Given the description of an element on the screen output the (x, y) to click on. 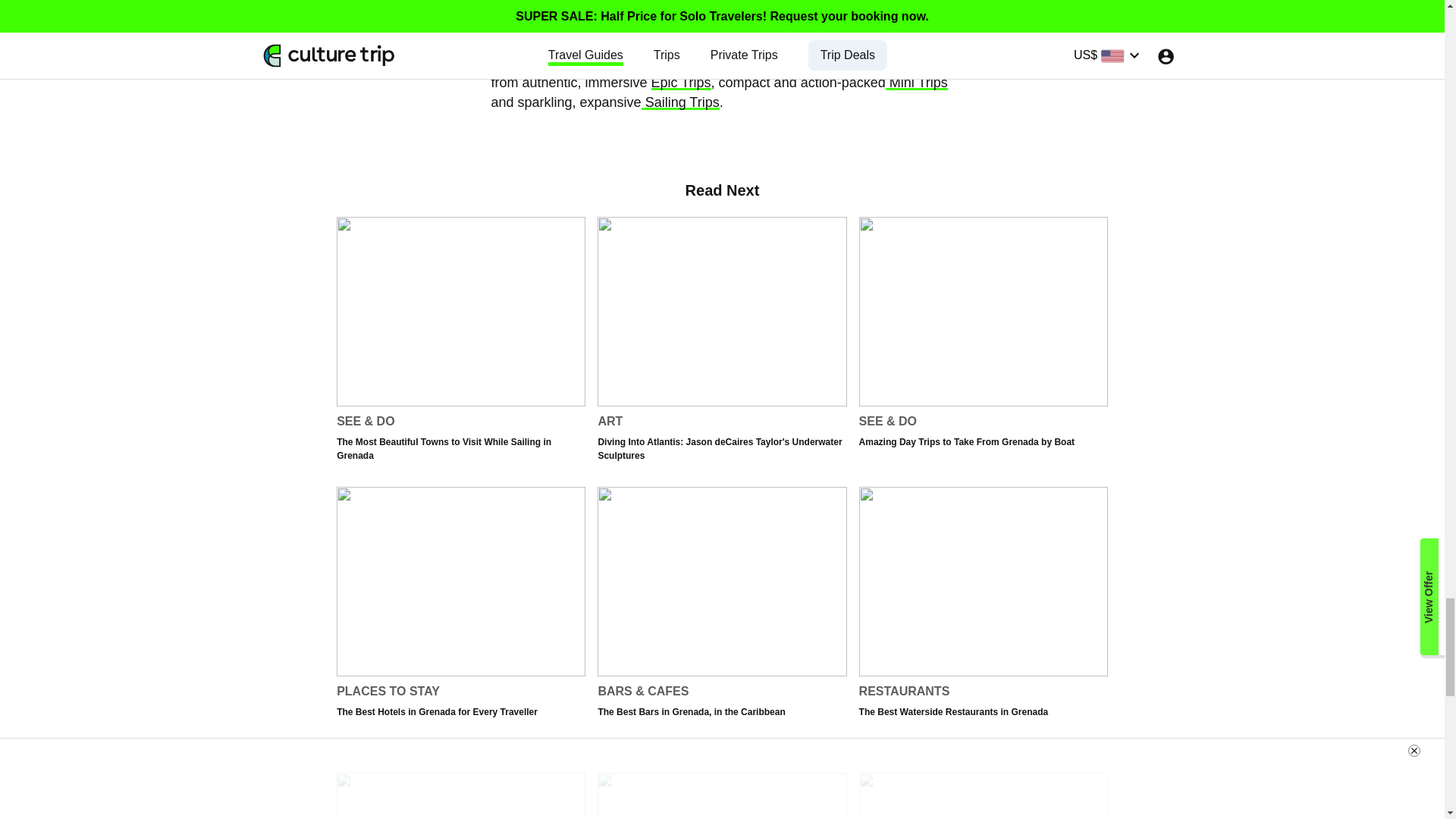
Sailing Trips (983, 615)
Mini Trips (680, 102)
Epic Trips (916, 82)
